Given the description of an element on the screen output the (x, y) to click on. 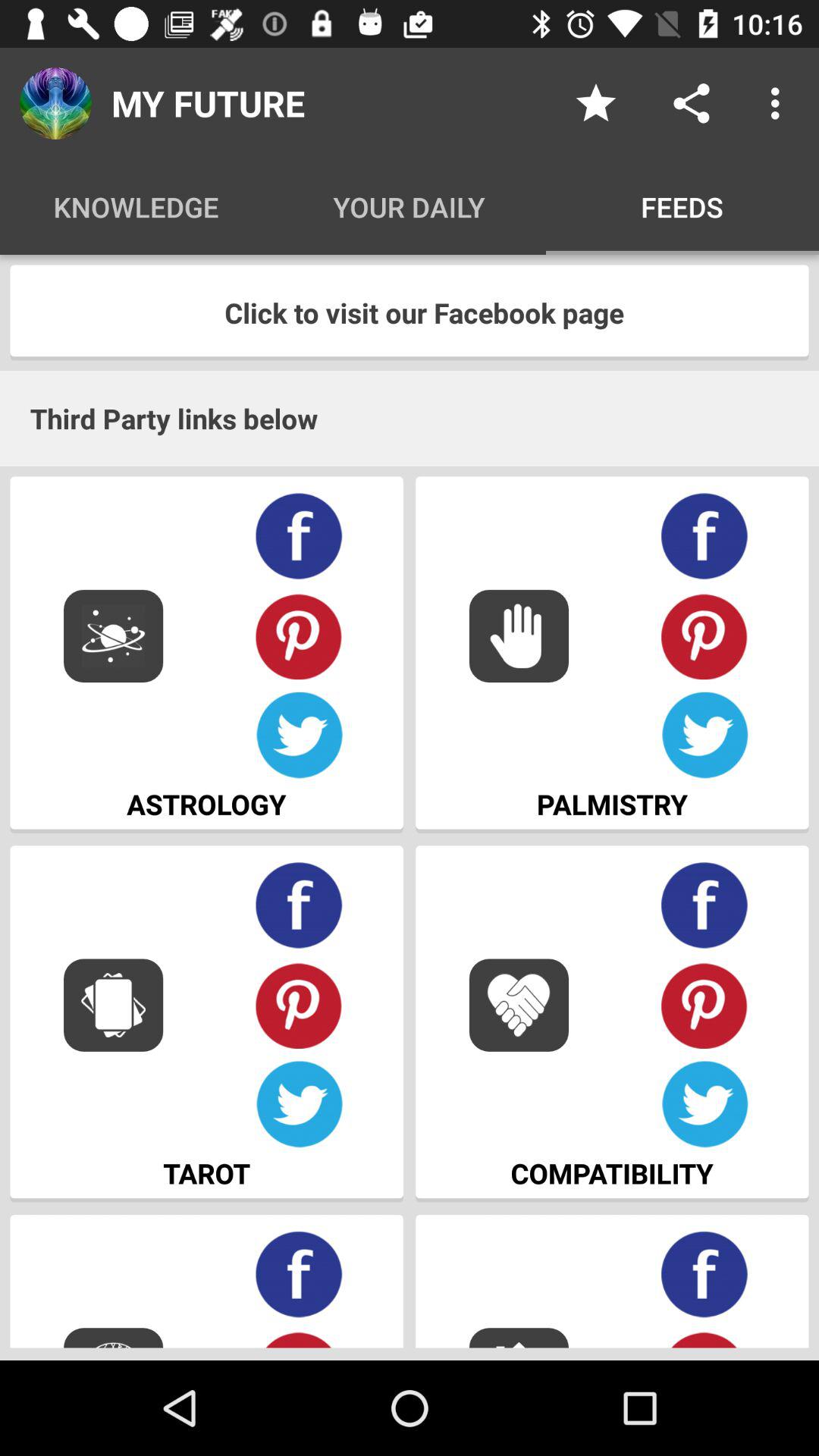
share on pintrest (704, 1337)
